Given the description of an element on the screen output the (x, y) to click on. 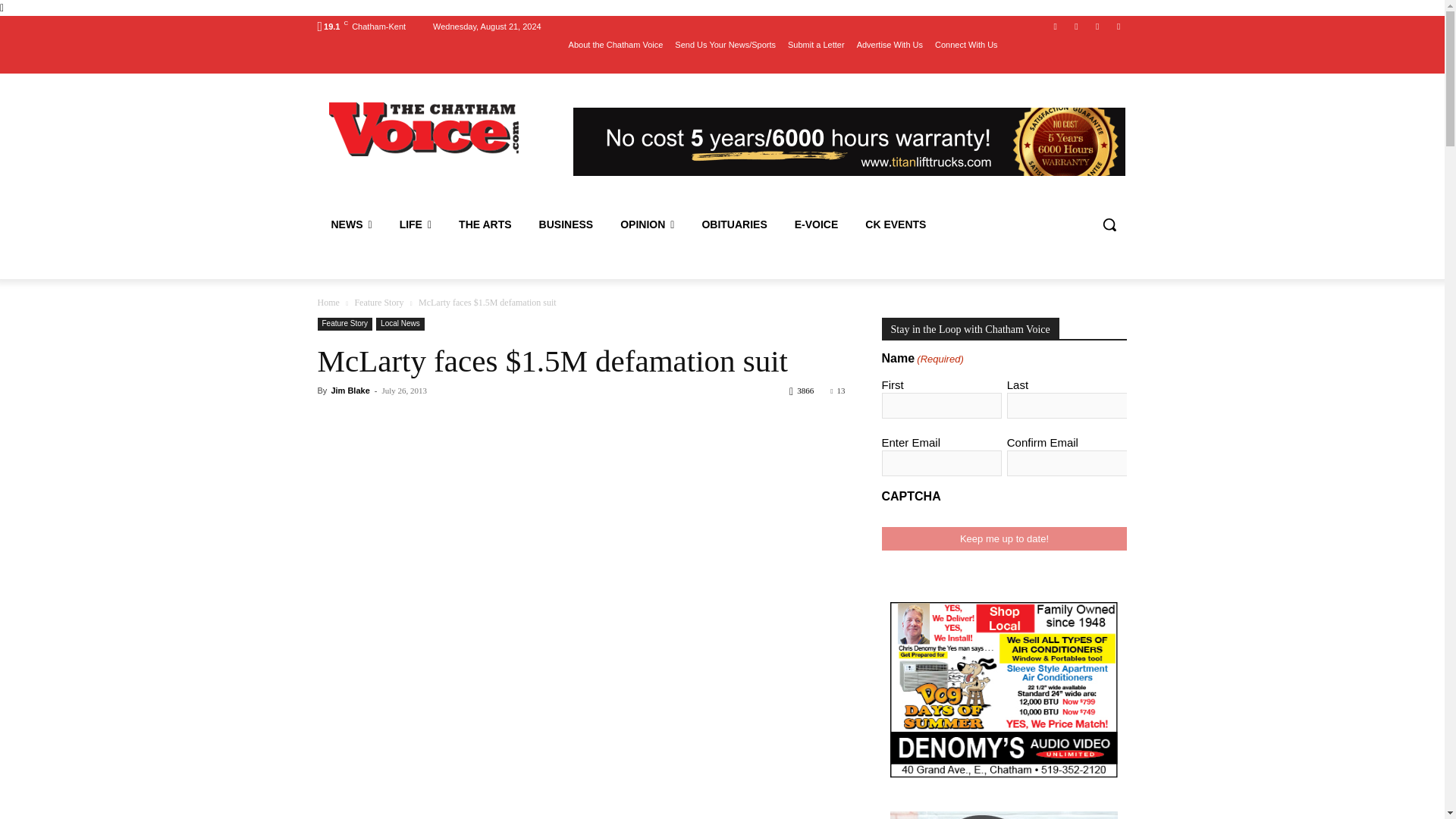
LIFE (415, 224)
BUSINESS (566, 224)
Submit a Letter (815, 44)
Keep me up to date! (1003, 538)
NEWS (351, 224)
Facebook (1055, 27)
About the Chatham Voice (616, 44)
OPINION (647, 224)
Chatham Voice (425, 128)
Twitter (1097, 27)
